Given the description of an element on the screen output the (x, y) to click on. 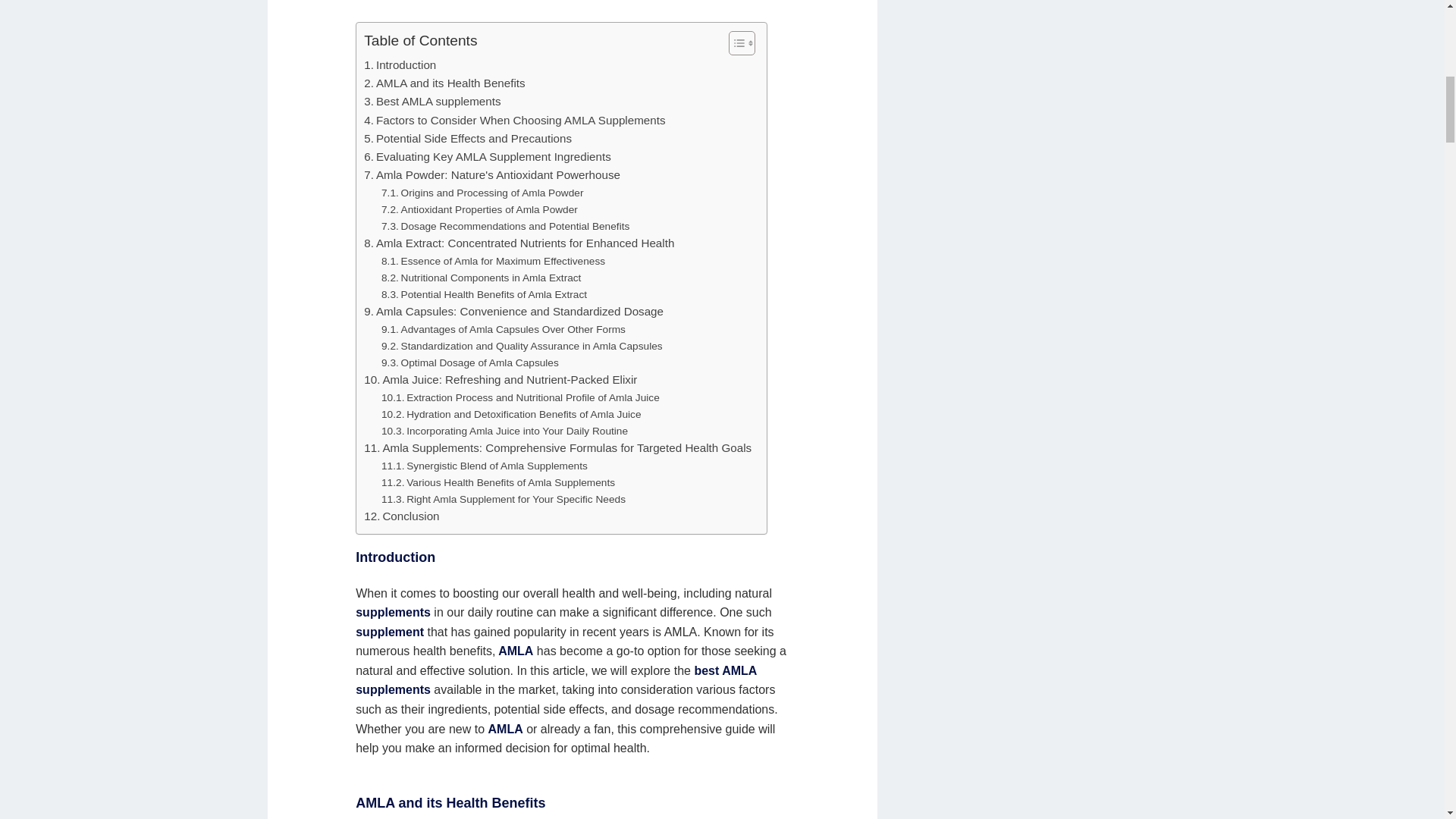
Introduction (399, 65)
Best AMLA supplements (432, 101)
Best AMLA supplements (432, 101)
Introduction (399, 65)
